Given the description of an element on the screen output the (x, y) to click on. 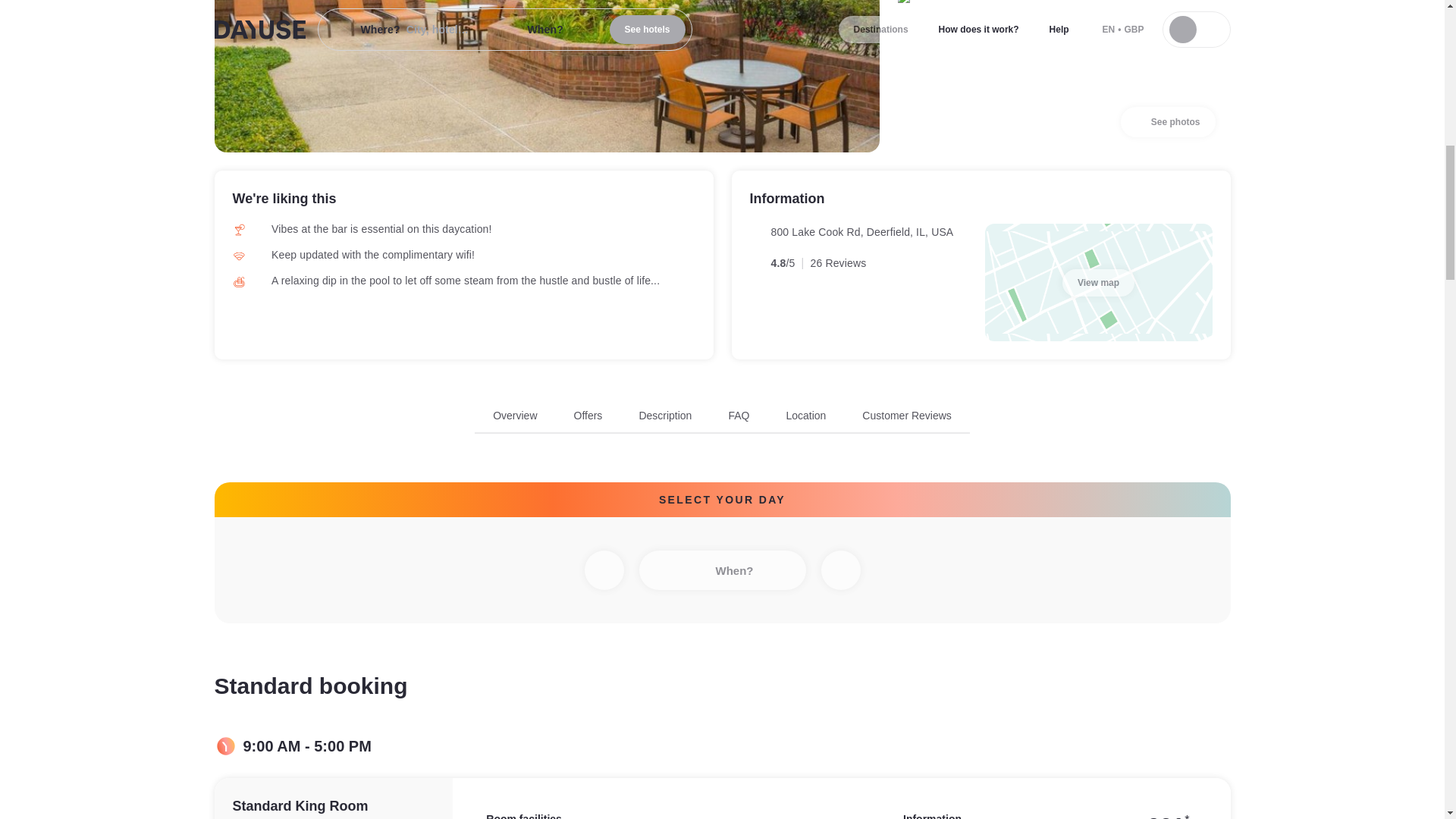
See photos (1168, 122)
When? (722, 569)
Customer Reviews (905, 415)
Offers (587, 415)
Description (665, 415)
Previous day (603, 569)
Overview (721, 420)
FAQ (515, 415)
Next day (738, 415)
